Given the description of an element on the screen output the (x, y) to click on. 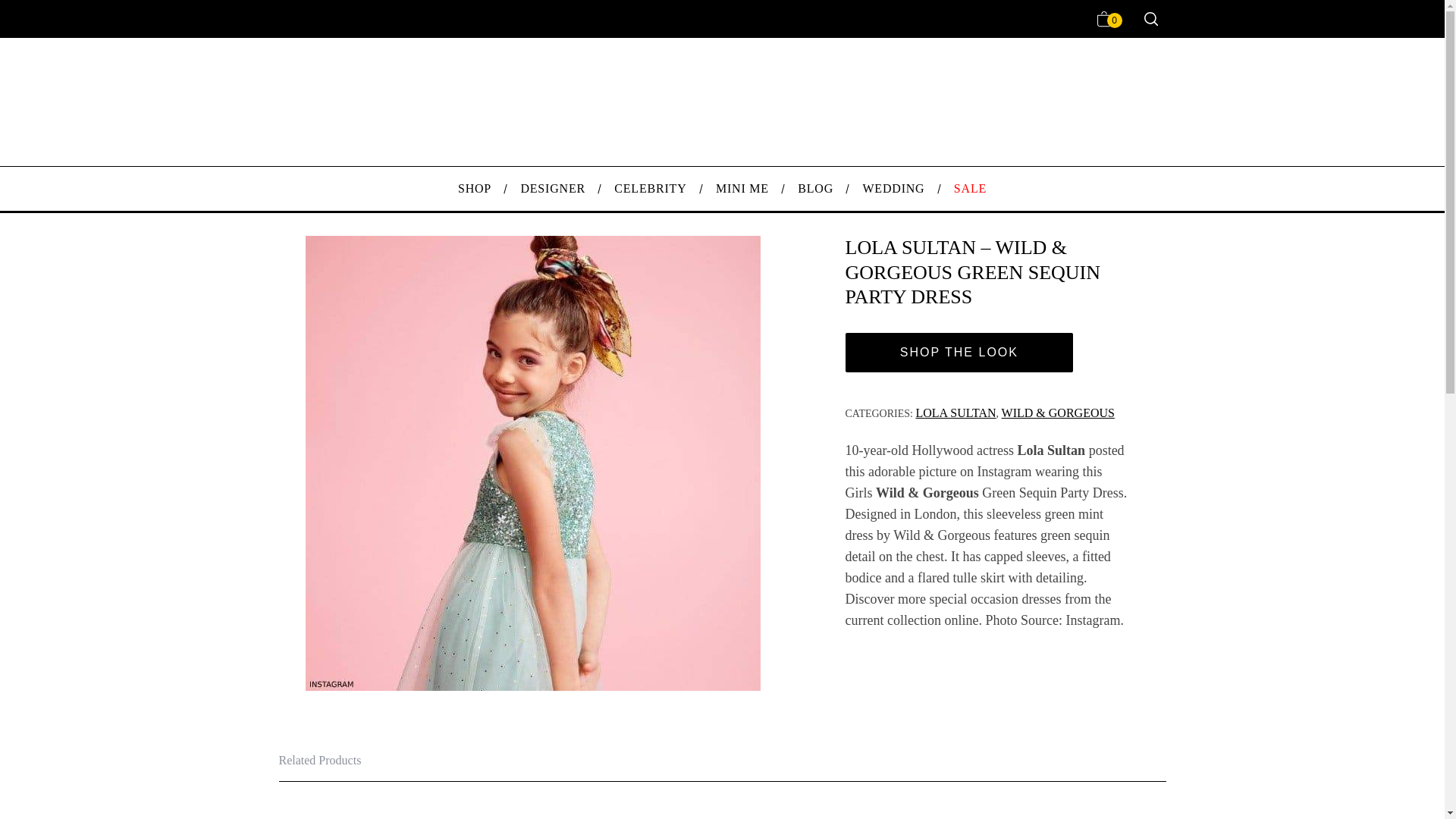
CELEBRITY (650, 188)
MINI ME (742, 188)
WEDDING (893, 188)
SALE (970, 188)
BLOG (815, 188)
